Given the description of an element on the screen output the (x, y) to click on. 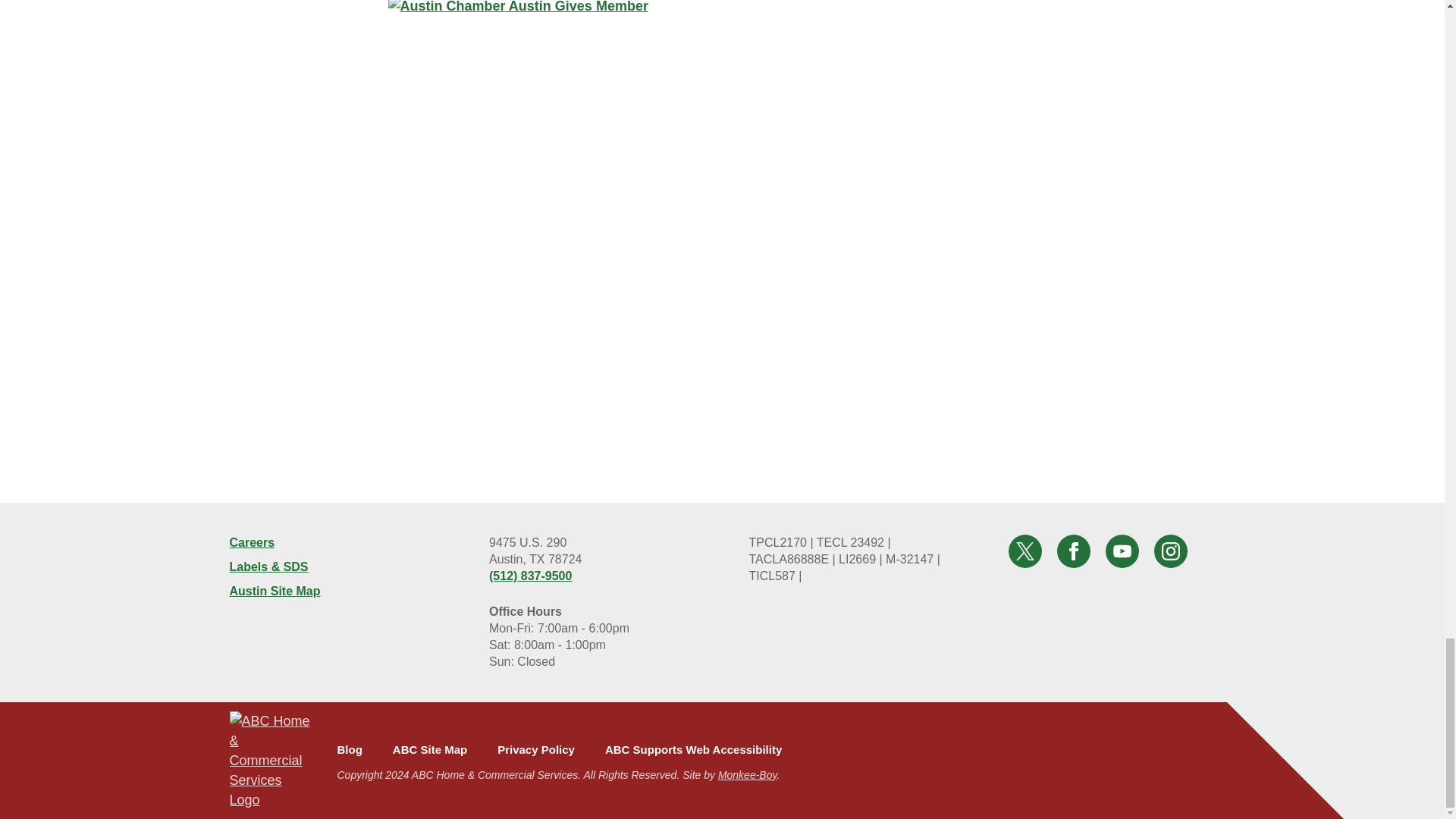
Visit us on X (1025, 550)
Visit us on YouTube (1121, 550)
Visit us on Facebook (1073, 550)
Visit us on Instagram (1171, 550)
